Given the description of an element on the screen output the (x, y) to click on. 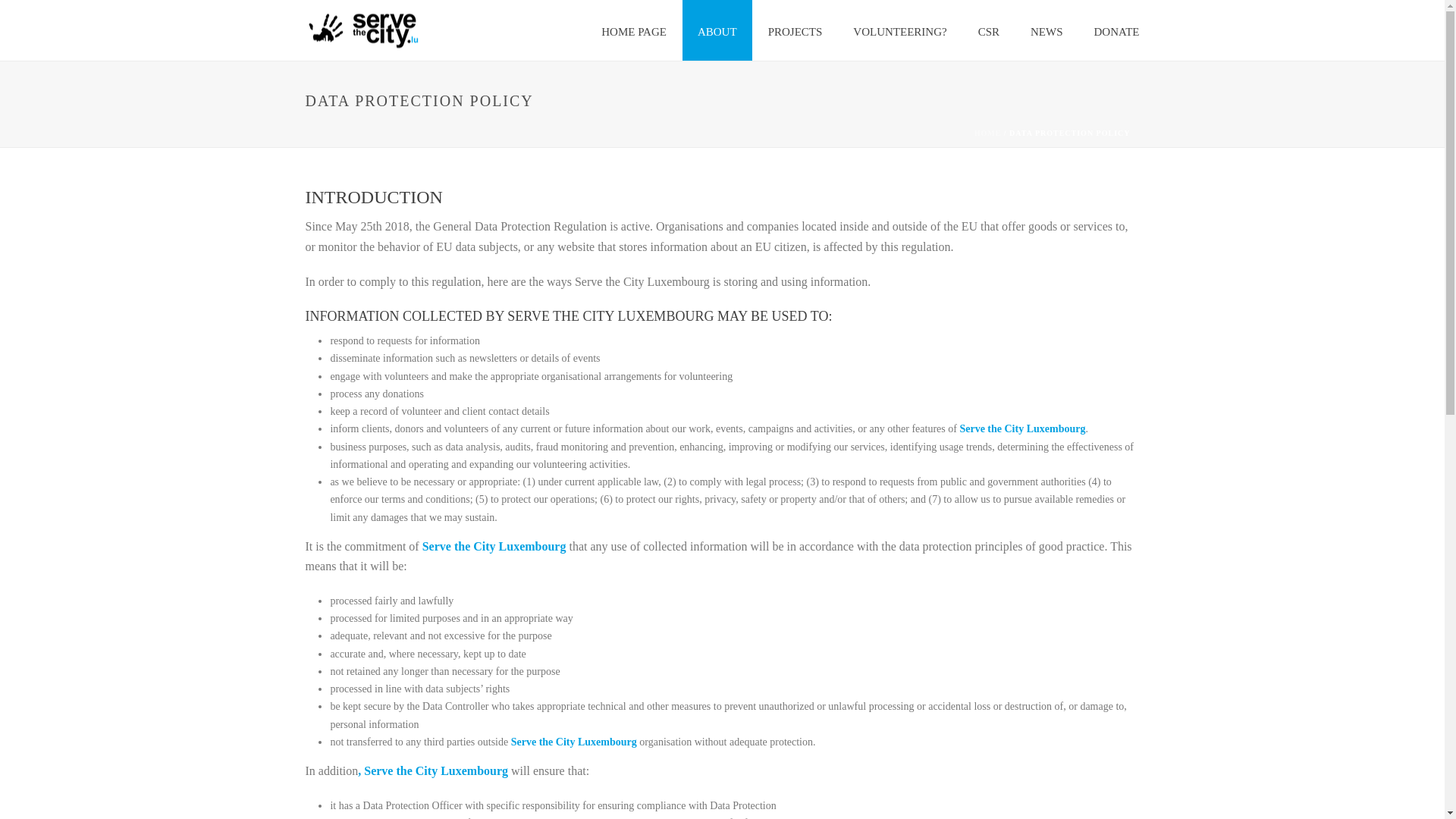
PROJECTS (795, 30)
HOME PAGE (633, 30)
NEWS (1046, 30)
HOME (987, 132)
VOLUNTEERING? (899, 30)
VOLUNTEERING? (899, 30)
ABOUT (717, 30)
ABOUT (717, 30)
Showing Kindness In Practical Ways (361, 29)
DONATE (1116, 30)
DONATE (1116, 30)
HOME PAGE (633, 30)
PROJECTS (795, 30)
NEWS (1046, 30)
